Given the description of an element on the screen output the (x, y) to click on. 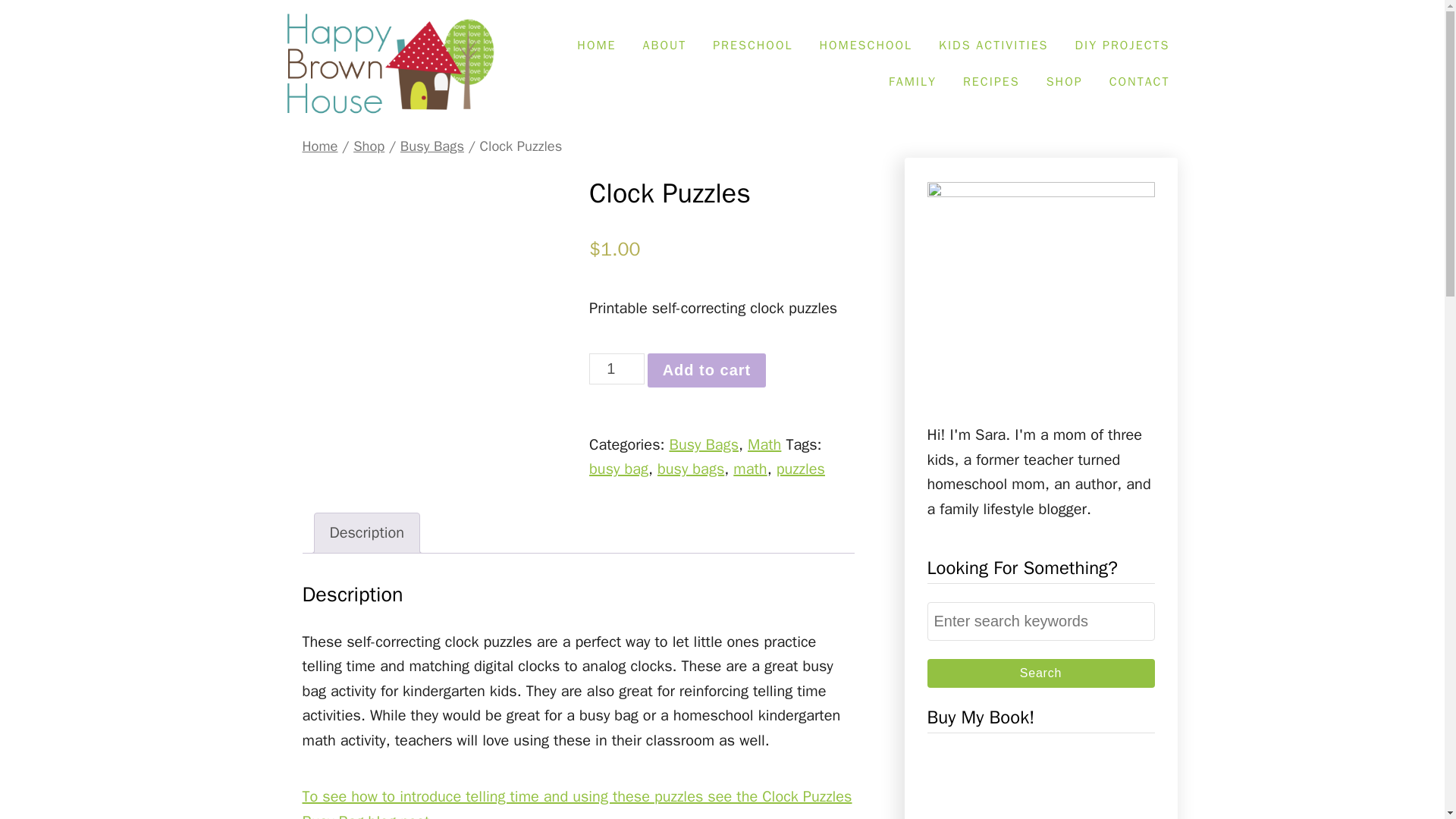
DIY PROJECTS (1121, 45)
PRESCHOOL (751, 45)
ABOUT (664, 45)
Search (1040, 672)
Search (1040, 672)
KIDS ACTIVITIES (993, 45)
1 (617, 368)
Search for: (1040, 620)
HOMESCHOOL (865, 45)
Happy Brown House (387, 64)
